Given the description of an element on the screen output the (x, y) to click on. 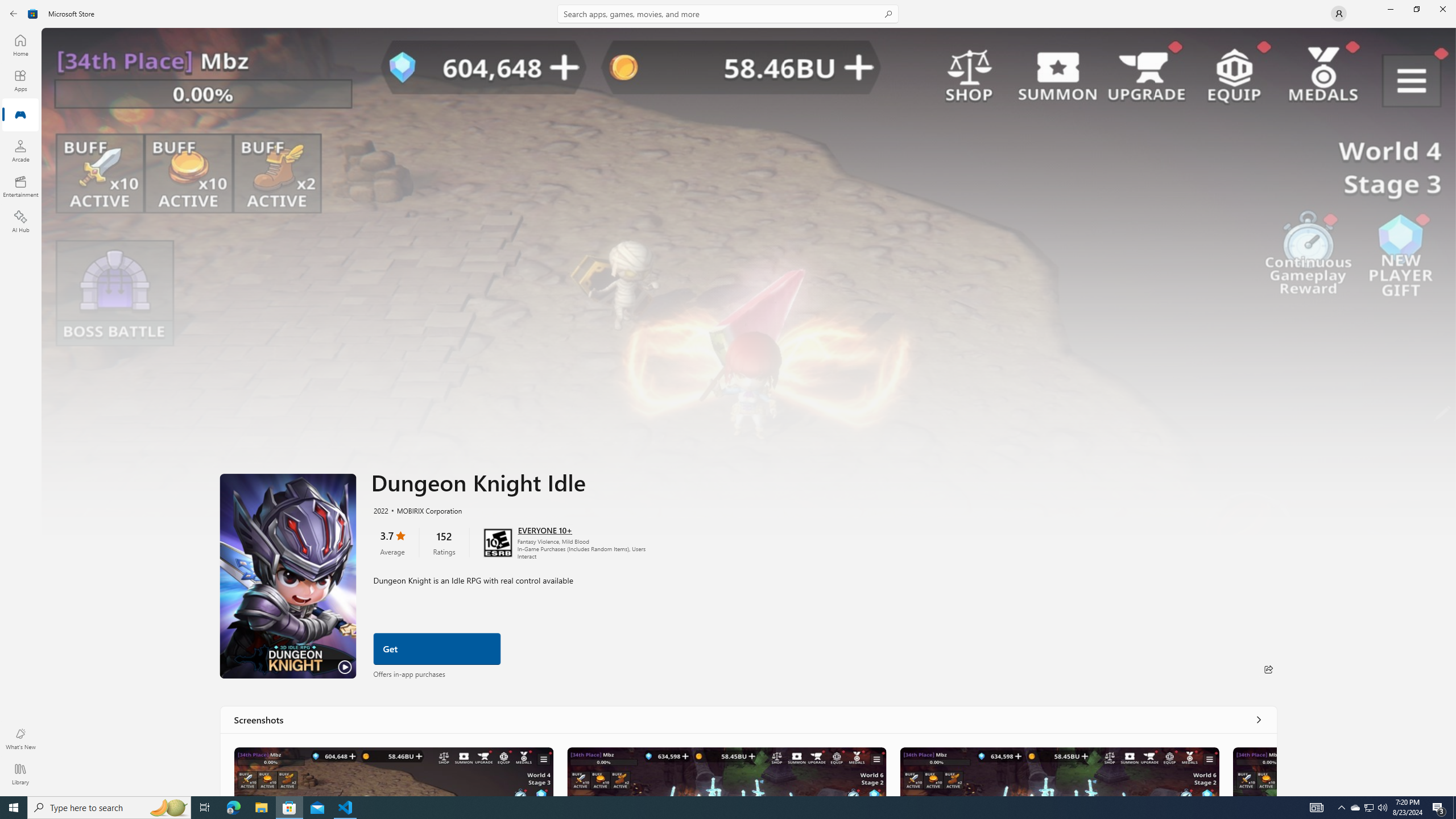
MOBIRIX Corporation (424, 510)
See all (1258, 719)
Search (727, 13)
Age rating: EVERYONE 10+. Click for more information. (545, 529)
Share (1267, 669)
2022 (379, 510)
Screenshot 2 (725, 771)
Back (13, 13)
Dungeon Knight Idle (393, 771)
